Given the description of an element on the screen output the (x, y) to click on. 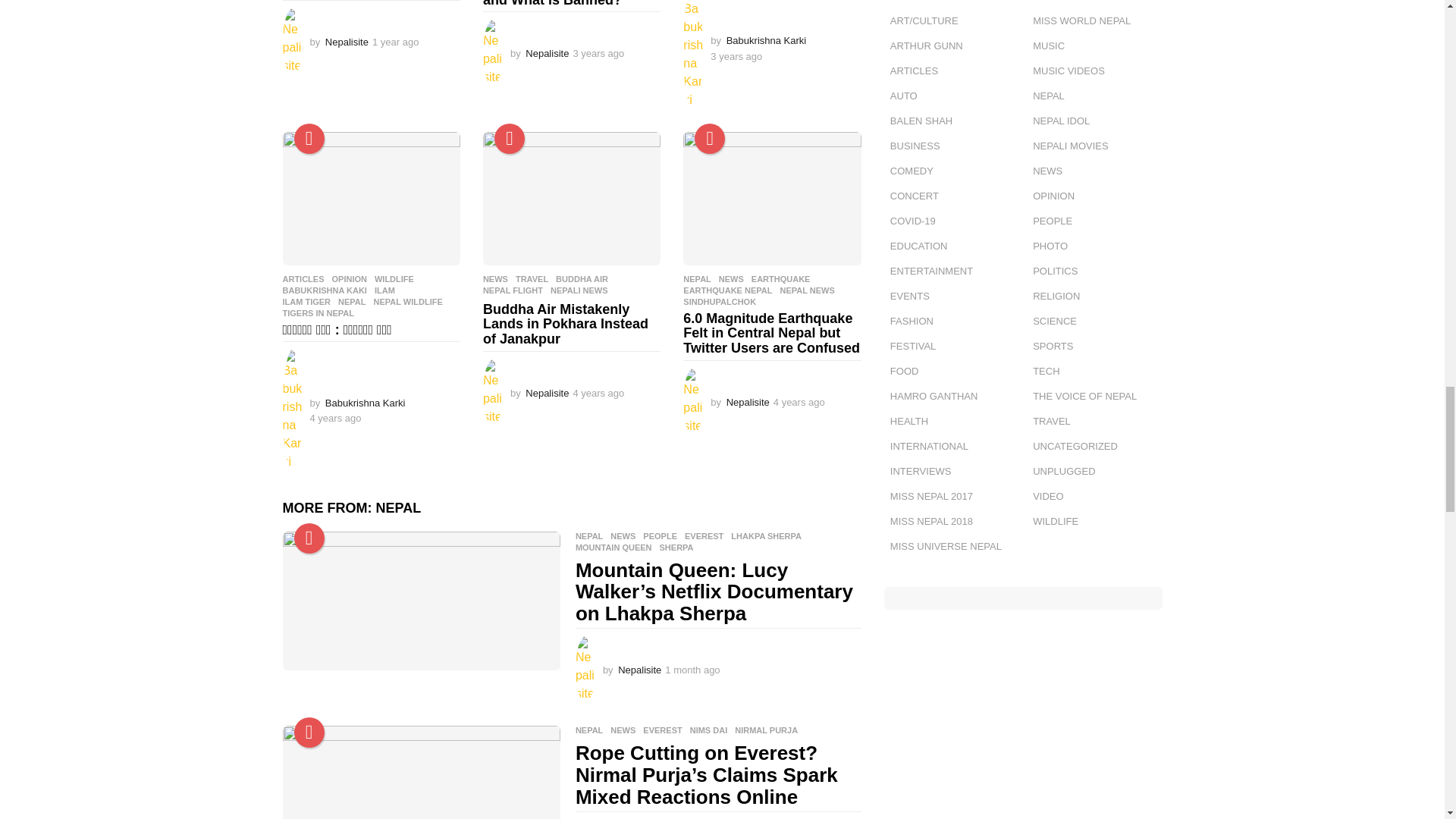
Trending (709, 138)
Buddha Air Mistakenly Lands in Pokhara Instead of Janakpur (572, 198)
Hot (309, 138)
Trending (509, 138)
Trending (309, 538)
Trending (309, 732)
